Given the description of an element on the screen output the (x, y) to click on. 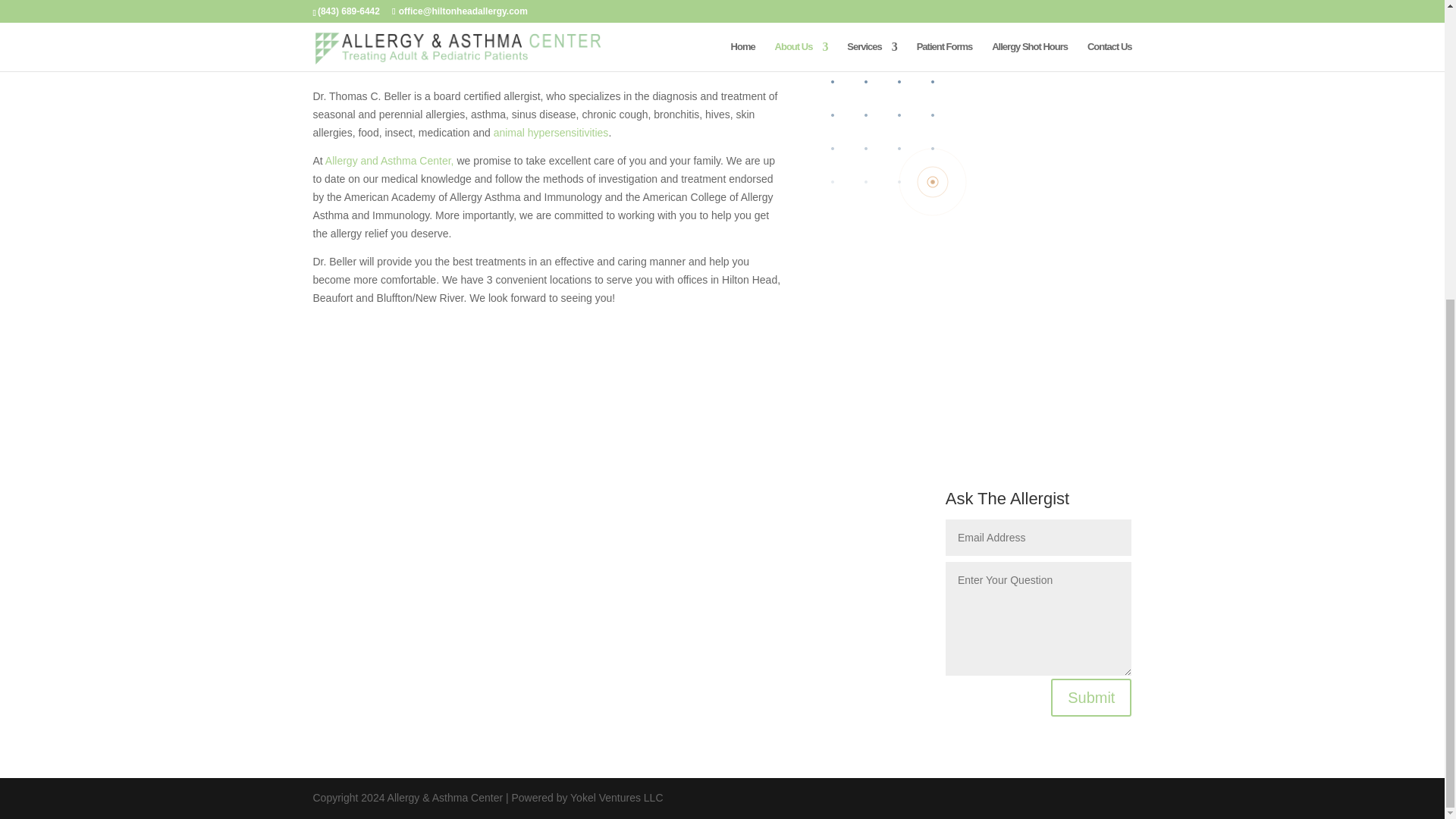
Submit (1091, 697)
Book An Appointment (401, 348)
Allergy and Asthma Center, (389, 160)
acupuncture-08 (549, 7)
animal hypersensitivities (550, 132)
